Given the description of an element on the screen output the (x, y) to click on. 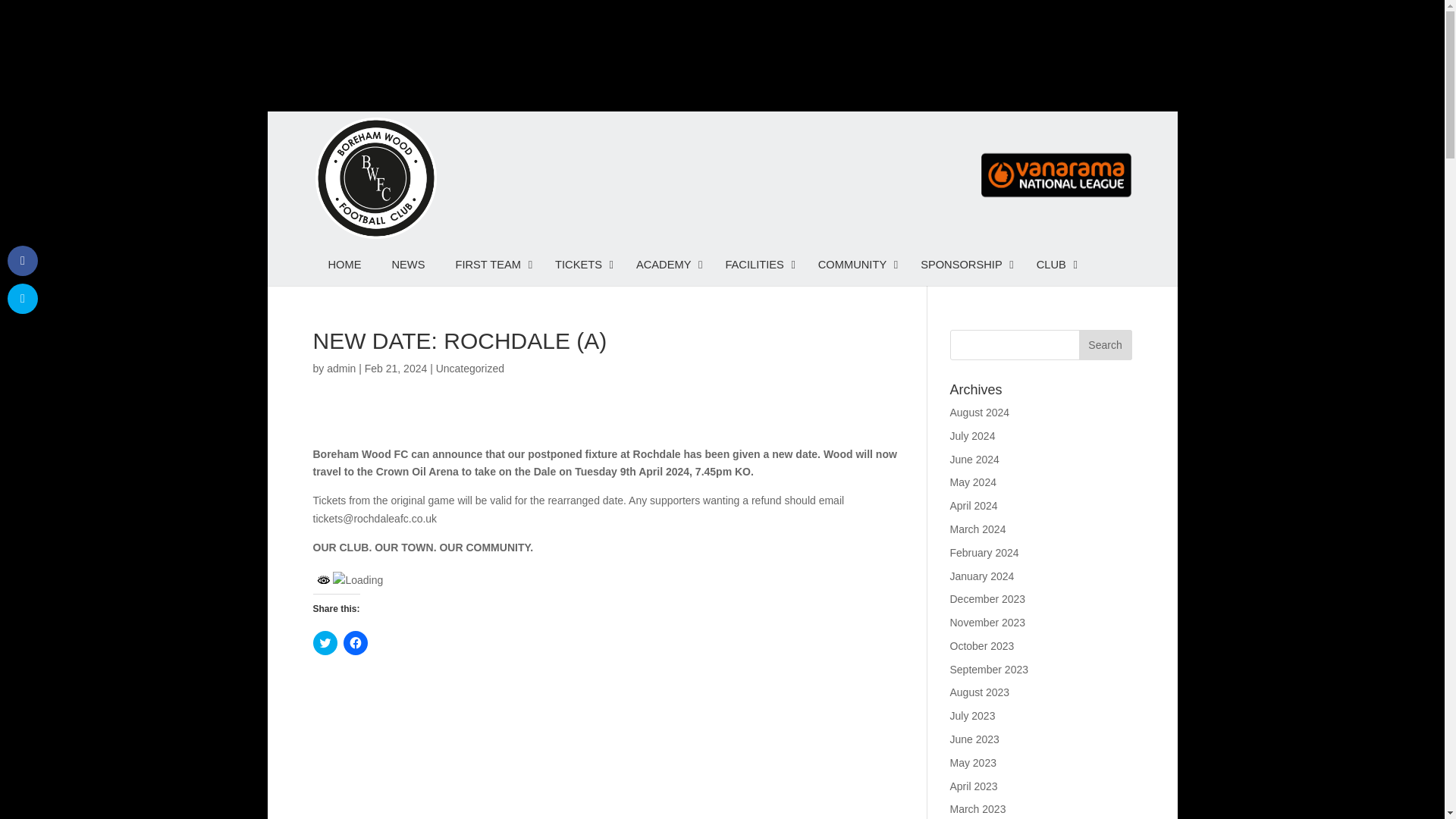
Uncategorized (469, 368)
Click to share on Twitter (324, 642)
admin (340, 368)
Click to share on Facebook (354, 642)
ACADEMY (665, 264)
NEWS (407, 264)
FIRST TEAM (489, 264)
COMMUNITY (854, 264)
CLUB (1053, 264)
Search (1104, 345)
Posts by admin (340, 368)
TICKETS (580, 264)
FACILITIES (756, 264)
SPONSORSHIP (963, 264)
